Given the description of an element on the screen output the (x, y) to click on. 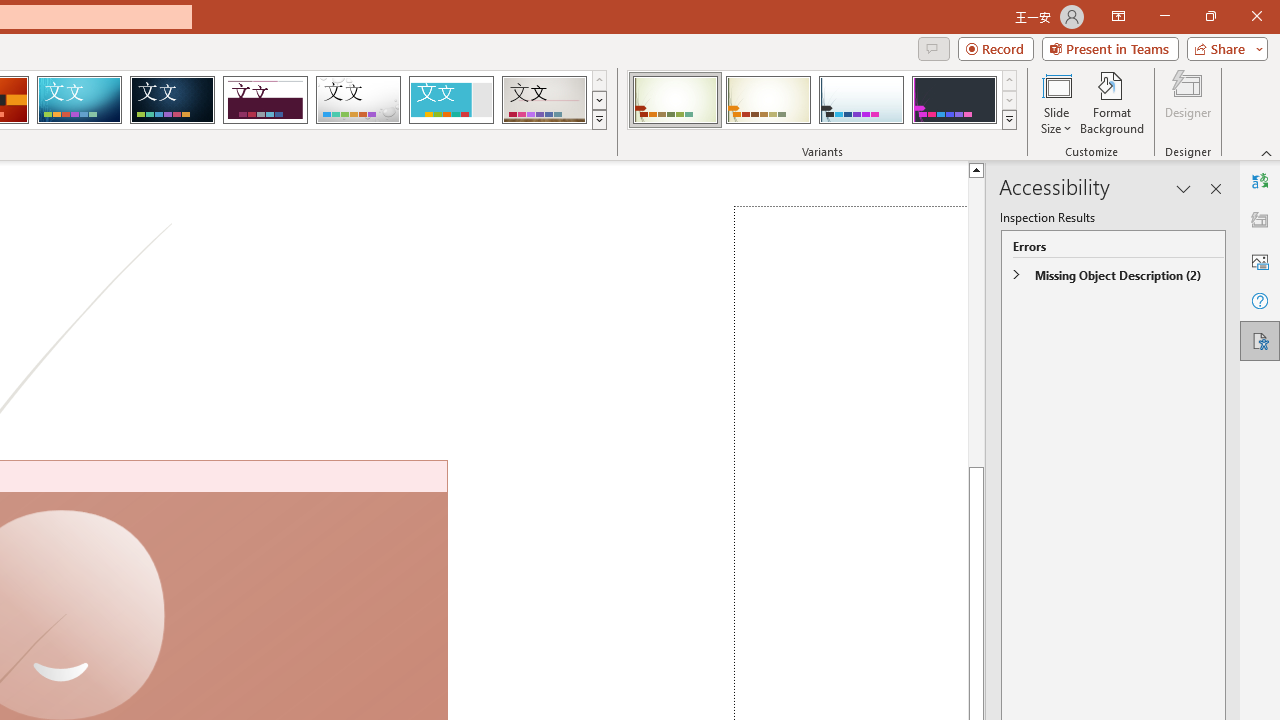
Variants (1009, 120)
Wisp Variant 4 (953, 100)
Dividend (265, 100)
Wisp Variant 3 (861, 100)
